Given the description of an element on the screen output the (x, y) to click on. 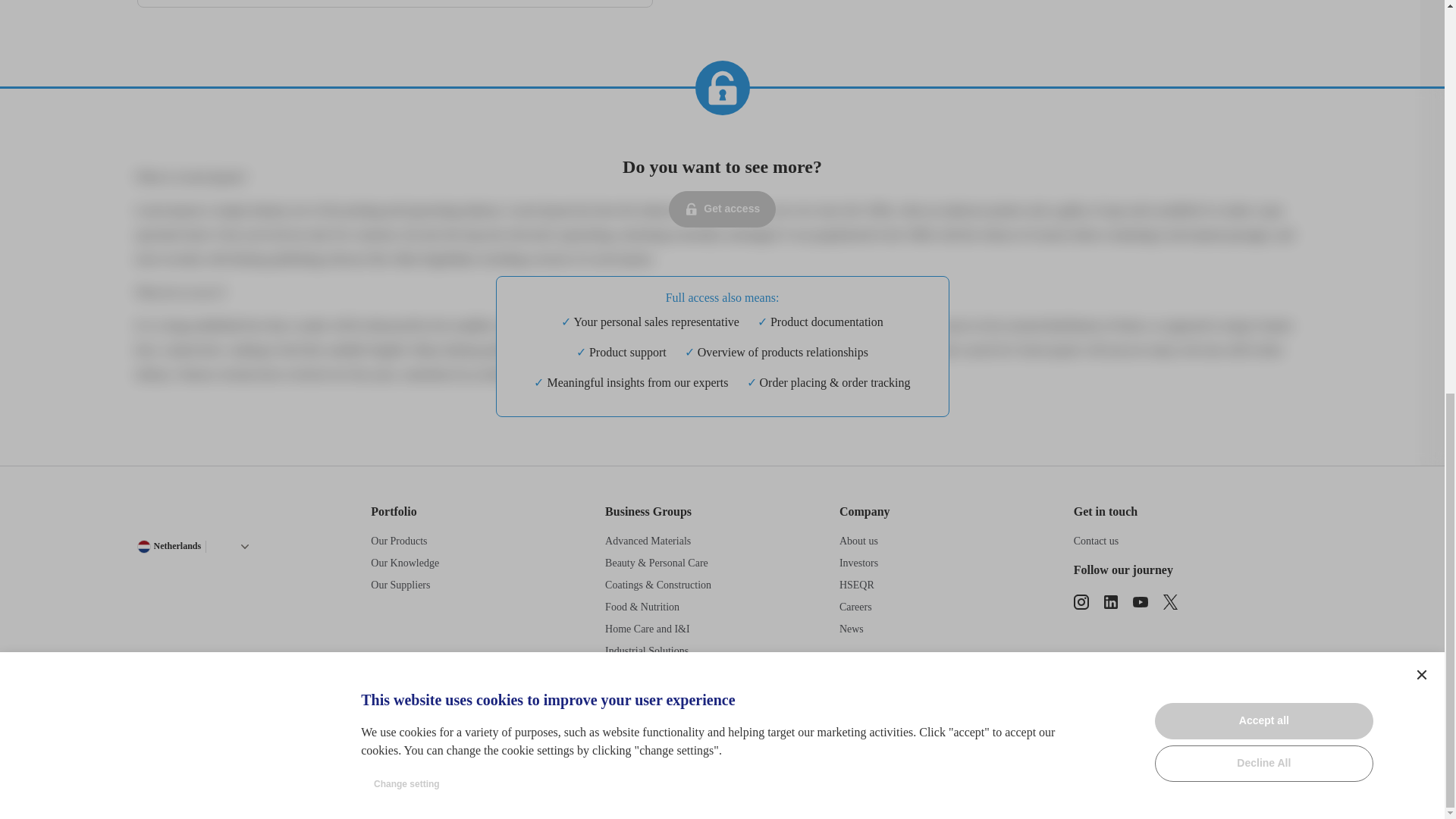
Open Dropdown (244, 546)
Get access (722, 208)
